Given the description of an element on the screen output the (x, y) to click on. 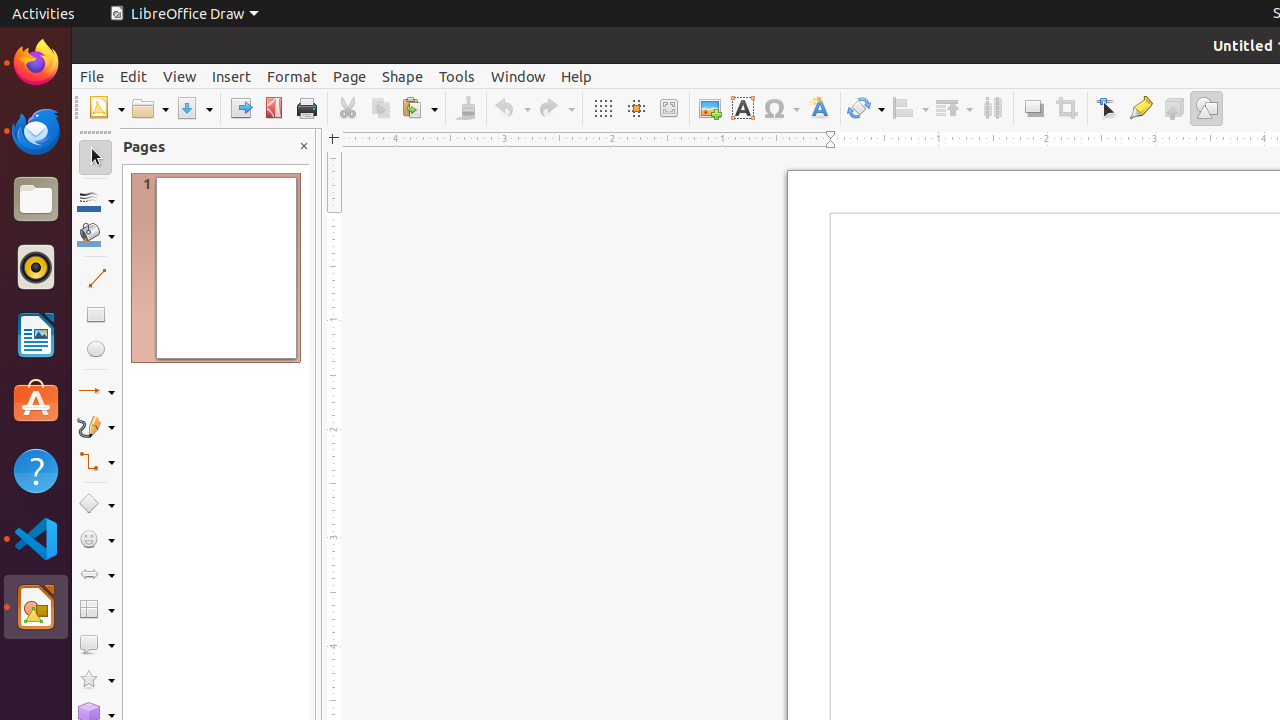
Ubuntu Software Element type: push-button (36, 402)
Align Element type: push-button (910, 108)
Shadow Element type: toggle-button (1033, 108)
Format Element type: menu (292, 76)
Flowchart Shapes Element type: push-button (96, 609)
